Given the description of an element on the screen output the (x, y) to click on. 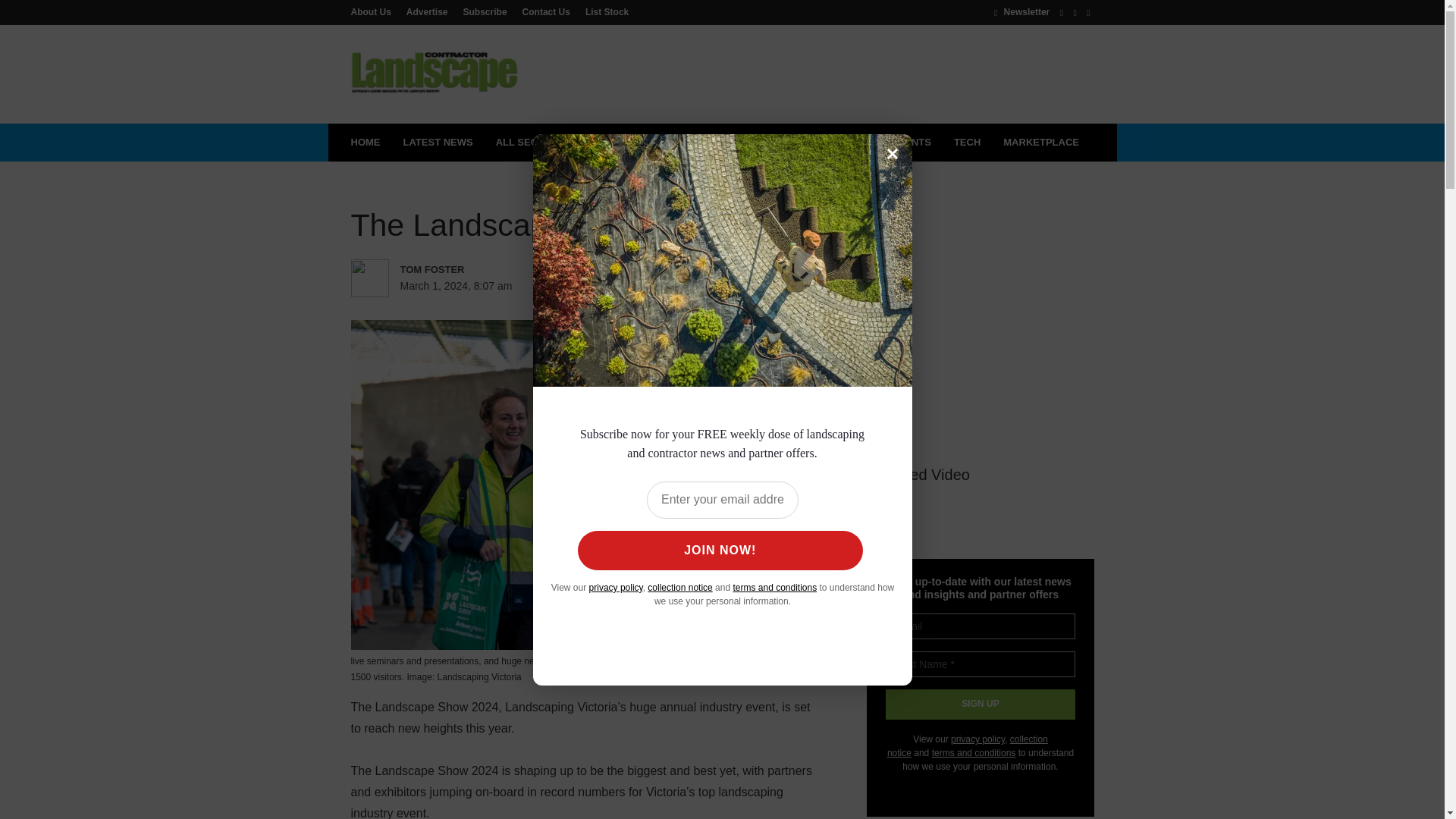
LATEST NEWS (437, 142)
View all posts by Tom Foster (465, 269)
Share on Copy Link (759, 286)
Share on Facebook (604, 286)
Advertise (426, 11)
3rd party ad content (817, 74)
Contact Us (546, 11)
Subscribe (485, 11)
Share on Twitter (635, 286)
List Stock (603, 11)
About Us (373, 11)
Share on Print (697, 286)
ALL SECTIONS (539, 142)
HOME (365, 142)
Share on LinkedIn (665, 286)
